Given the description of an element on the screen output the (x, y) to click on. 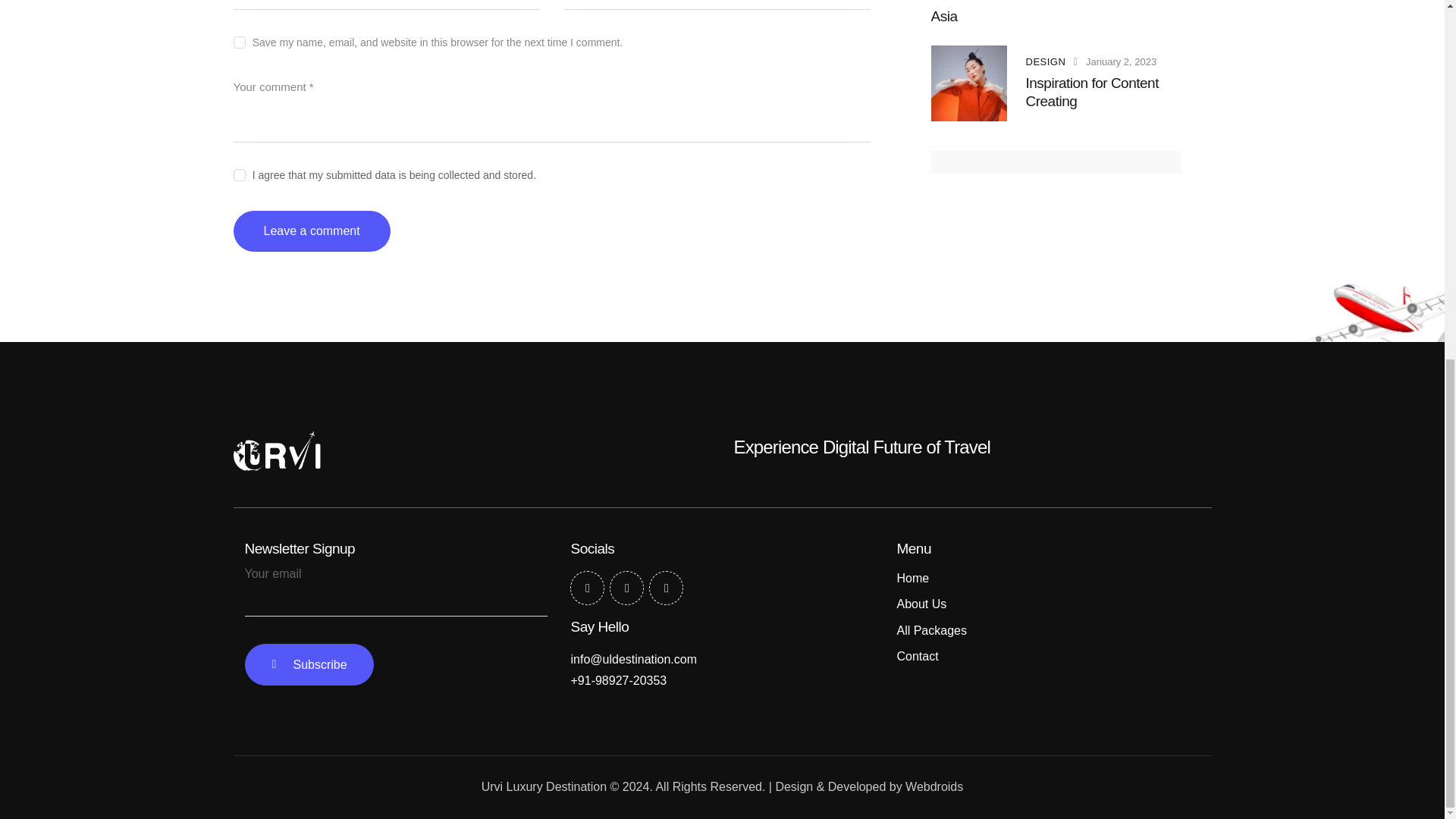
1 (551, 171)
Leave a comment (311, 230)
yes (237, 39)
Subscribe (308, 664)
